Given the description of an element on the screen output the (x, y) to click on. 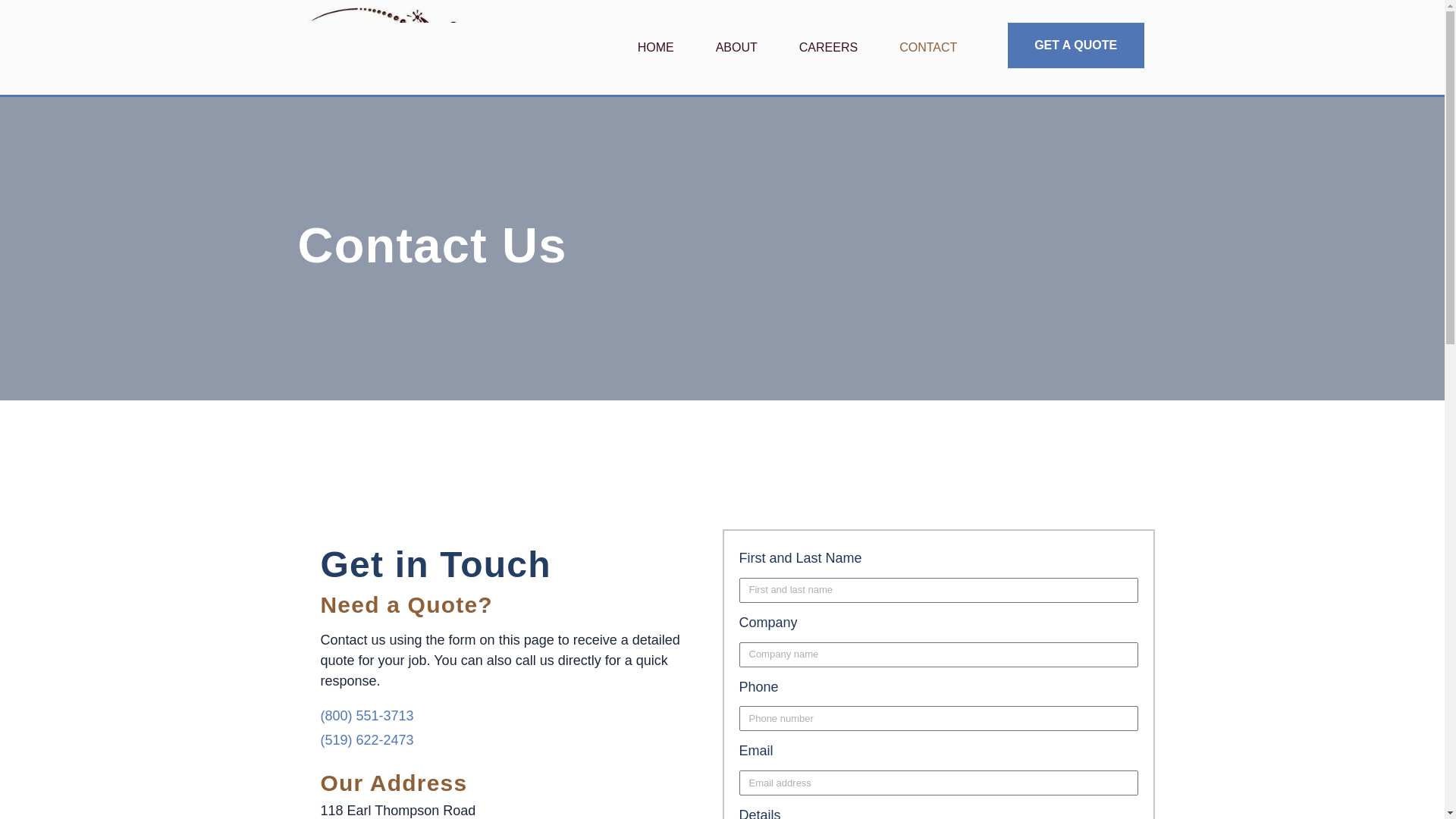
CAREERS (828, 47)
CONTACT (927, 47)
GET A QUOTE (1075, 44)
HOME (655, 47)
ABOUT (736, 47)
